Given the description of an element on the screen output the (x, y) to click on. 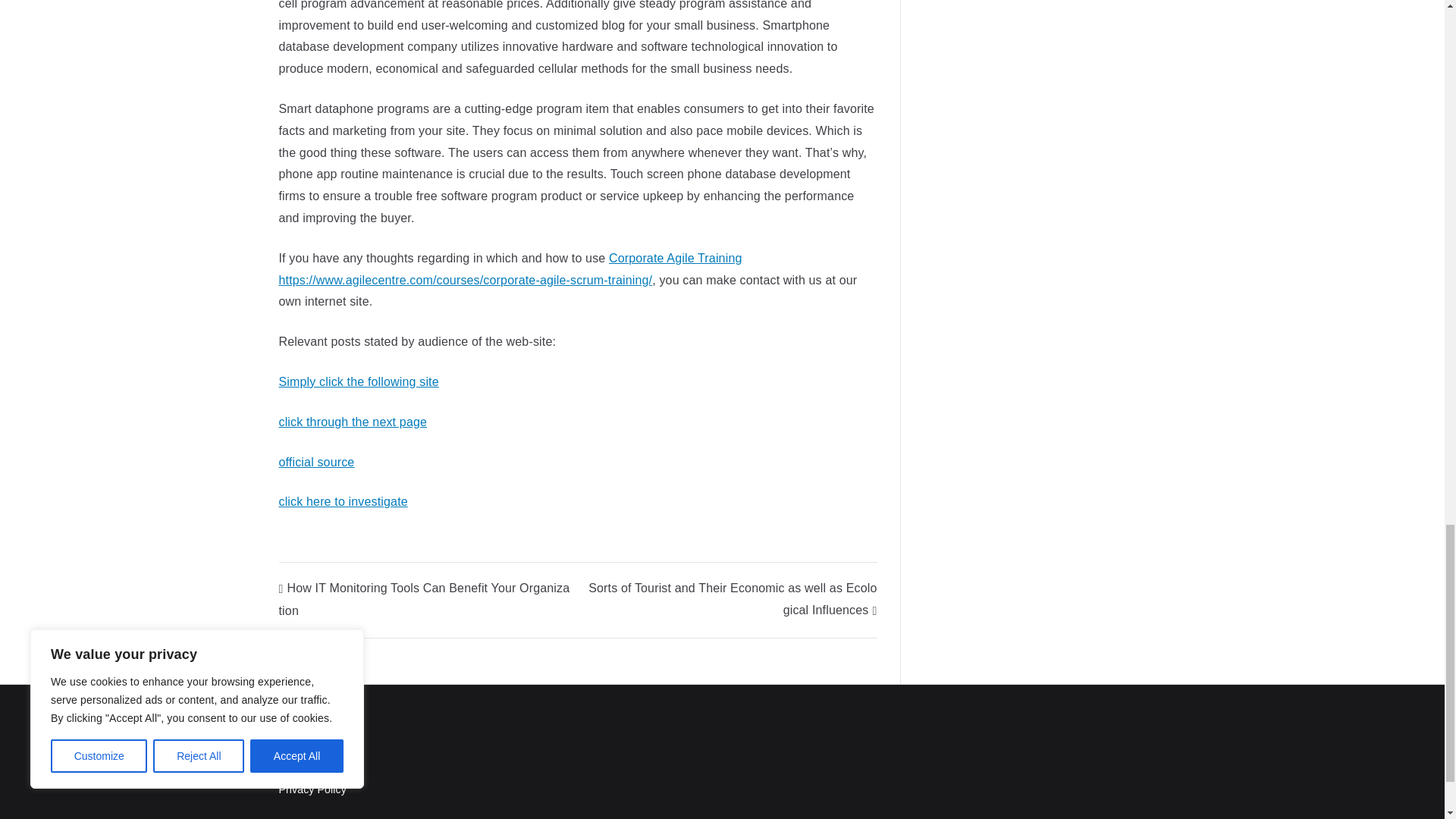
click through the next page (353, 421)
Simply click the following site (359, 381)
click here to investigate (343, 501)
official source (317, 461)
How IT Monitoring Tools Can Benefit Your Organization (424, 599)
